Given the description of an element on the screen output the (x, y) to click on. 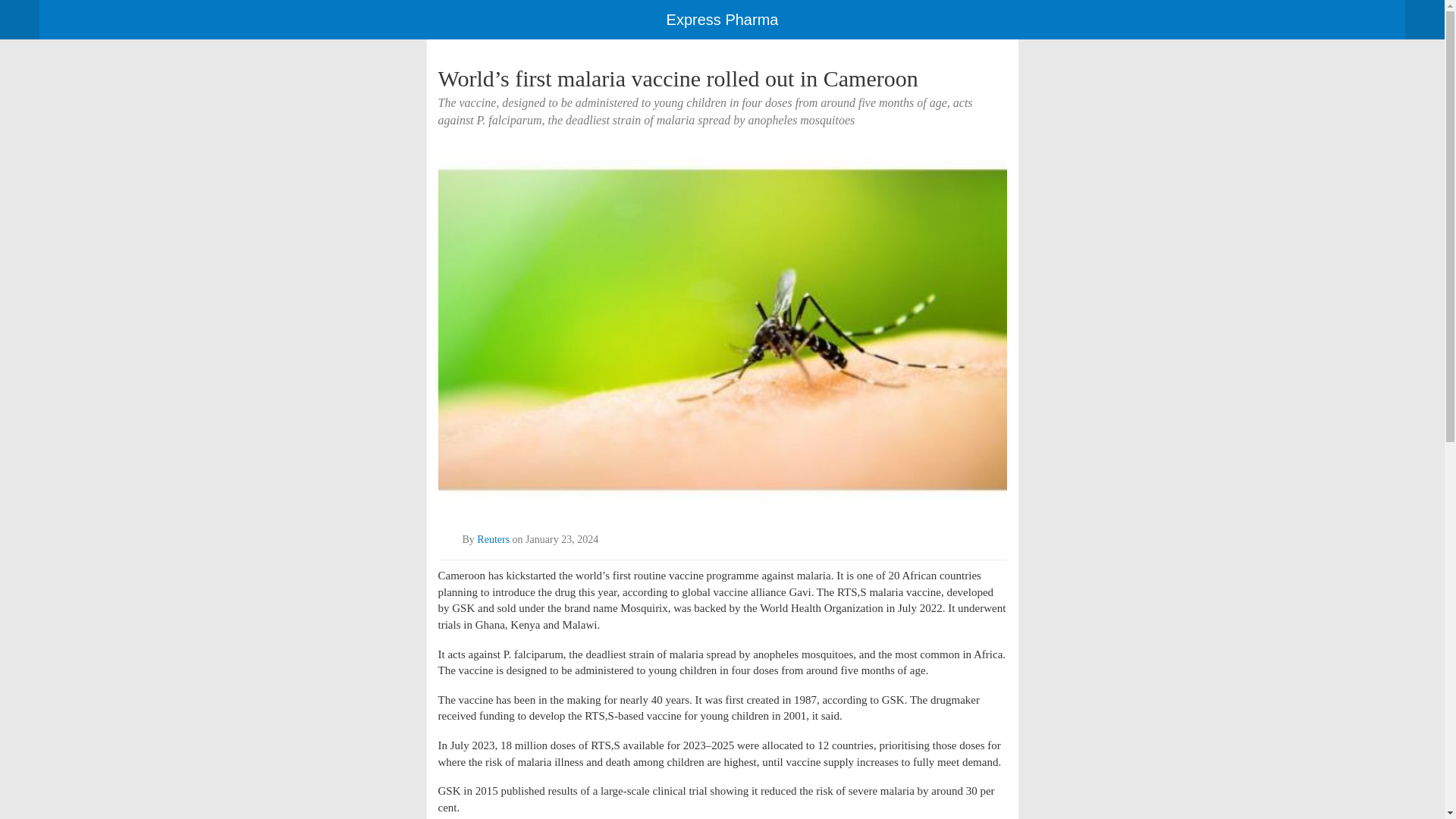
Reuters (493, 539)
